Given the description of an element on the screen output the (x, y) to click on. 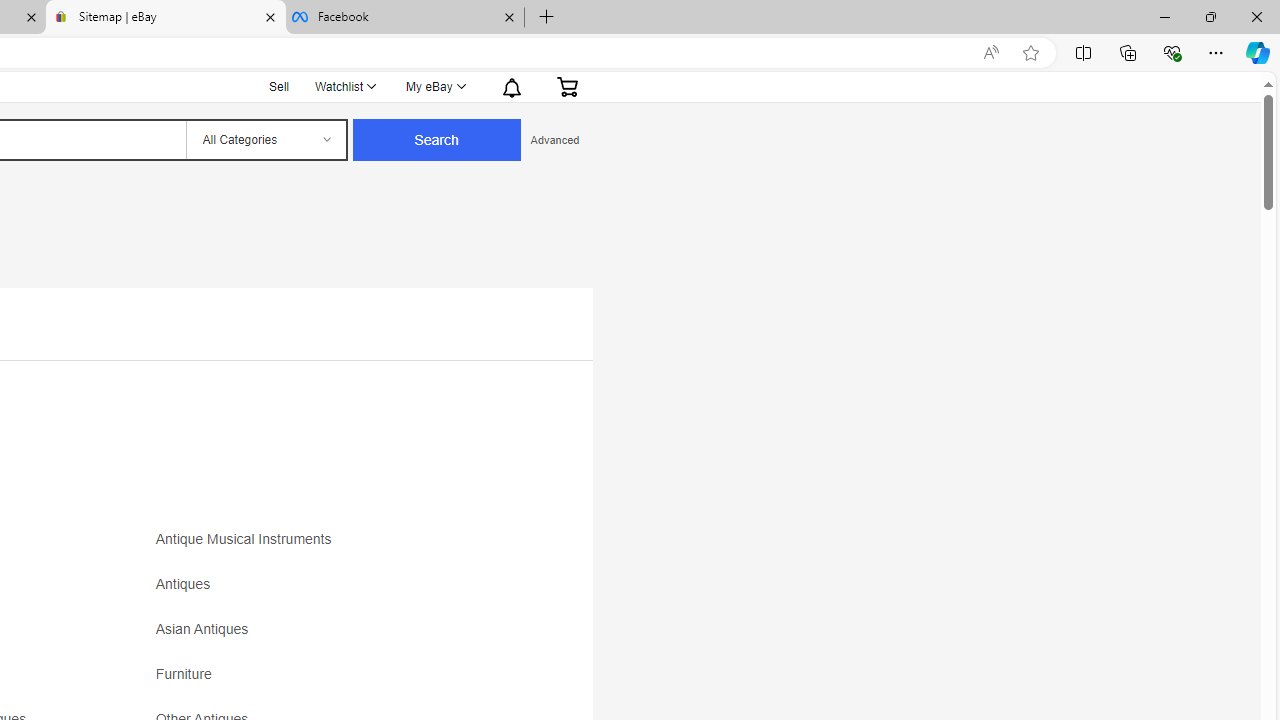
Asian Antiques (332, 636)
Settings and more (Alt+F) (1215, 52)
New Tab (546, 17)
My eBay (434, 86)
Advanced Search (554, 139)
Antique Musical Instruments (332, 546)
Expand Cart (567, 86)
Search (436, 139)
Split screen (1083, 52)
Close (1256, 16)
Select a category for search (265, 139)
Sell (279, 84)
Notification (510, 86)
Furniture (332, 681)
Your shopping cart (567, 86)
